Given the description of an element on the screen output the (x, y) to click on. 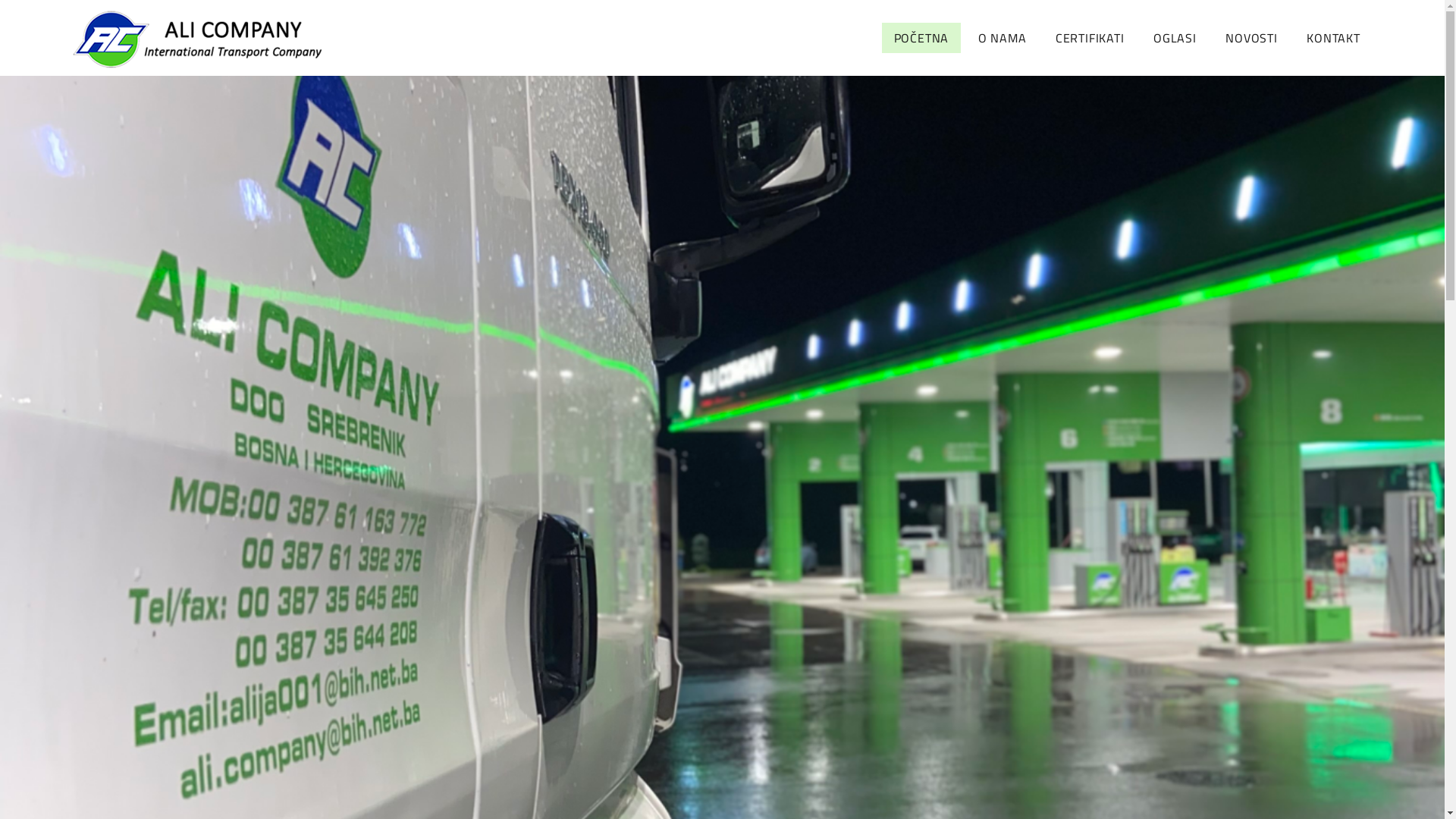
NOVOSTI Element type: text (1251, 37)
O NAMA Element type: text (1002, 37)
OGLASI Element type: text (1174, 37)
KONTAKT Element type: text (1333, 37)
CERTIFIKATI Element type: text (1089, 37)
